Given the description of an element on the screen output the (x, y) to click on. 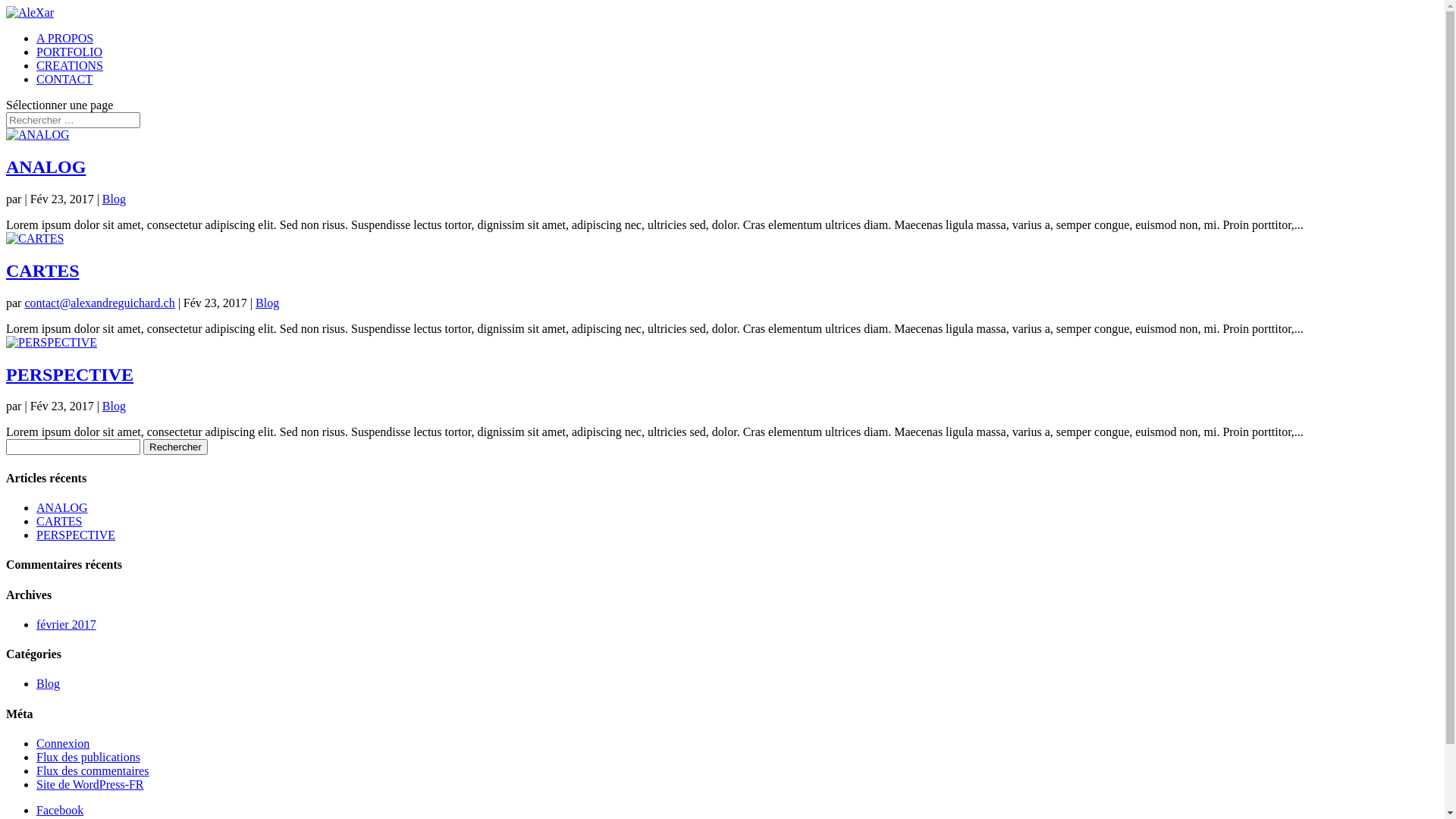
A PROPOS Element type: text (64, 37)
CONTACT Element type: text (64, 78)
CARTES Element type: text (42, 270)
Blog Element type: text (113, 198)
Flux des commentaires Element type: text (92, 770)
ANALOG Element type: text (61, 507)
Connexion Element type: text (62, 743)
Facebook Element type: text (59, 809)
PORTFOLIO Element type: text (69, 51)
Rechercher: Element type: hover (73, 120)
Site de WordPress-FR Element type: text (90, 784)
CARTES Element type: text (58, 520)
PERSPECTIVE Element type: text (75, 534)
Blog Element type: text (47, 683)
Flux des publications Element type: text (88, 756)
CREATIONS Element type: text (69, 65)
Blog Element type: text (267, 302)
PERSPECTIVE Element type: text (69, 374)
Rechercher Element type: text (175, 447)
Blog Element type: text (113, 405)
contact@alexandreguichard.ch Element type: text (99, 302)
ANALOG Element type: text (45, 166)
